Given the description of an element on the screen output the (x, y) to click on. 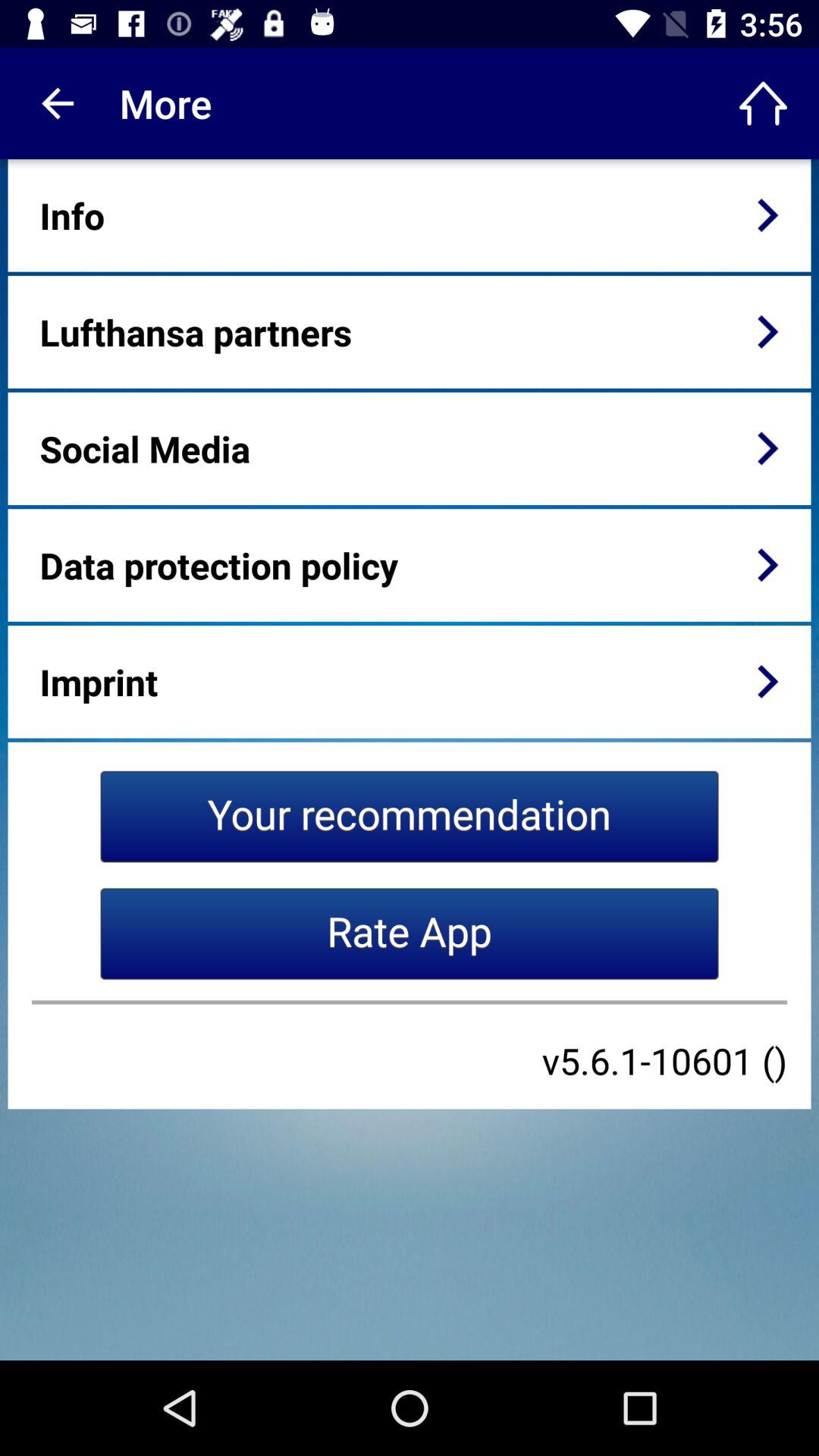
click item next to the data protection policy (768, 564)
